Given the description of an element on the screen output the (x, y) to click on. 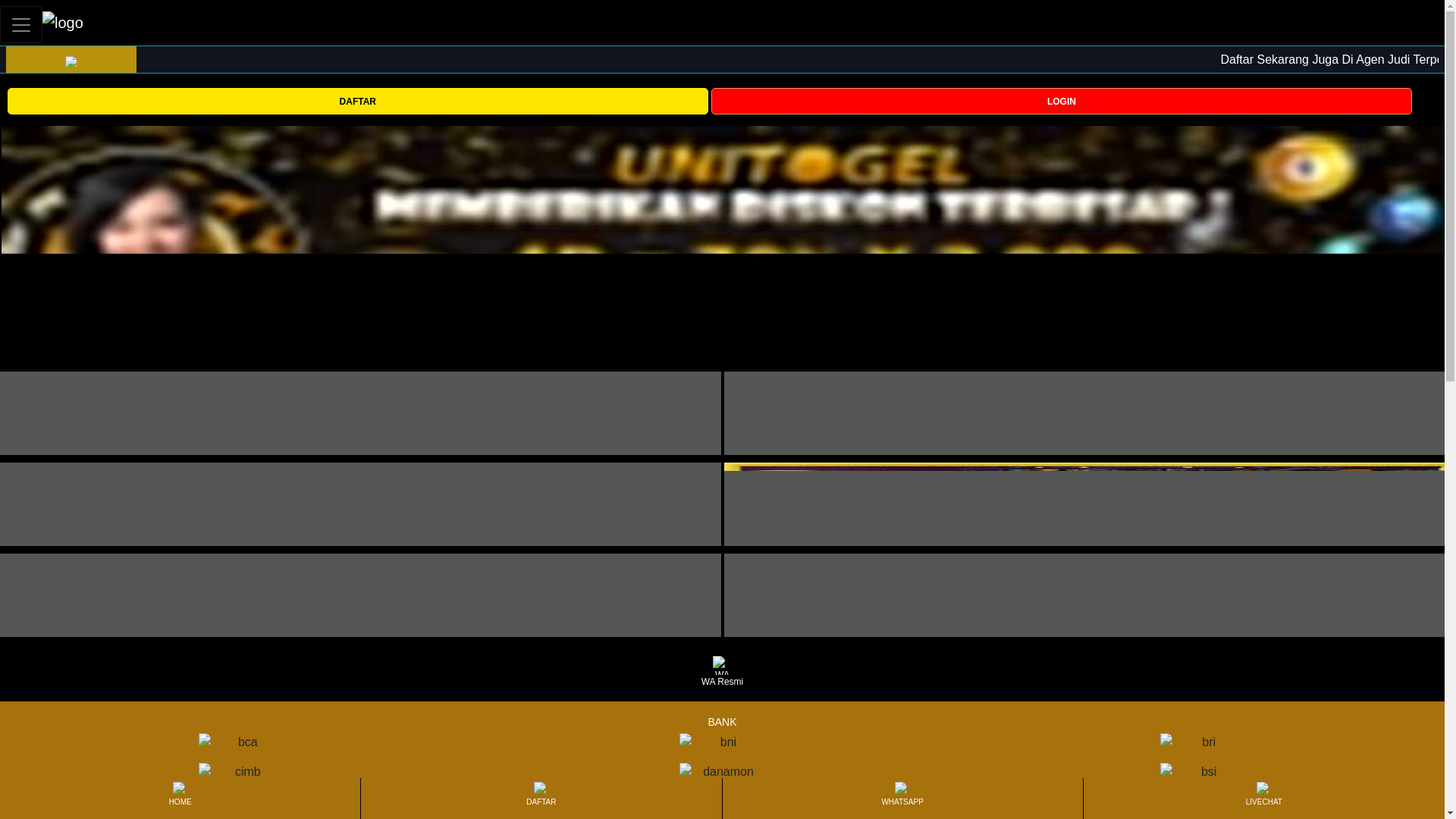
DAFTAR (540, 798)
DAFTAR (357, 100)
WHATSAPP (901, 798)
LOGIN (1061, 100)
WA Resmi (722, 672)
DAFTAR (357, 100)
LOGIN (1061, 100)
HOME (179, 798)
LIVECHAT (1263, 798)
